Given the description of an element on the screen output the (x, y) to click on. 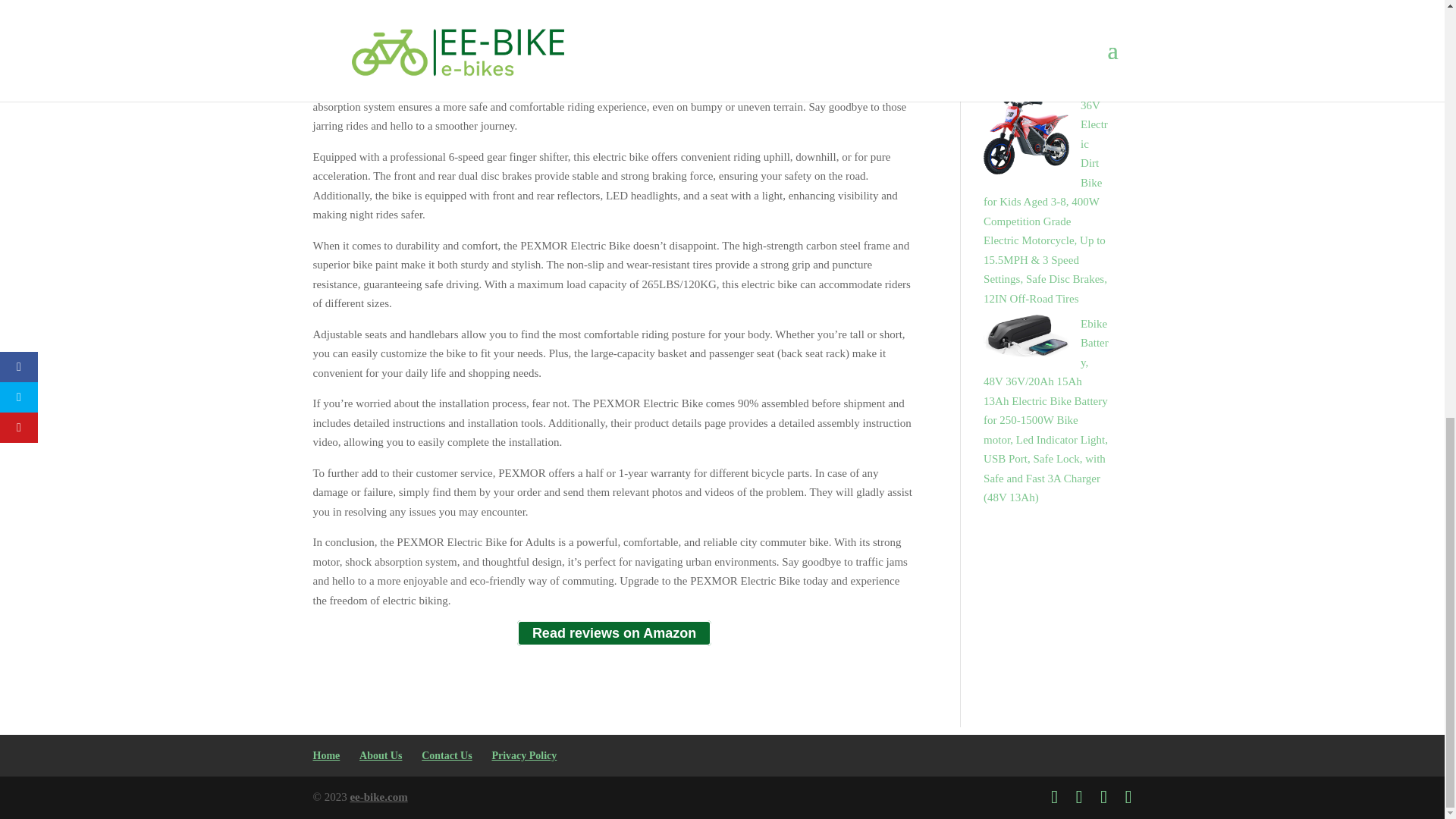
Contact Us (446, 755)
ee-bike.com (378, 797)
Home (326, 755)
Read reviews on Amazon (613, 633)
Privacy Policy (524, 755)
About Us (380, 755)
